Given the description of an element on the screen output the (x, y) to click on. 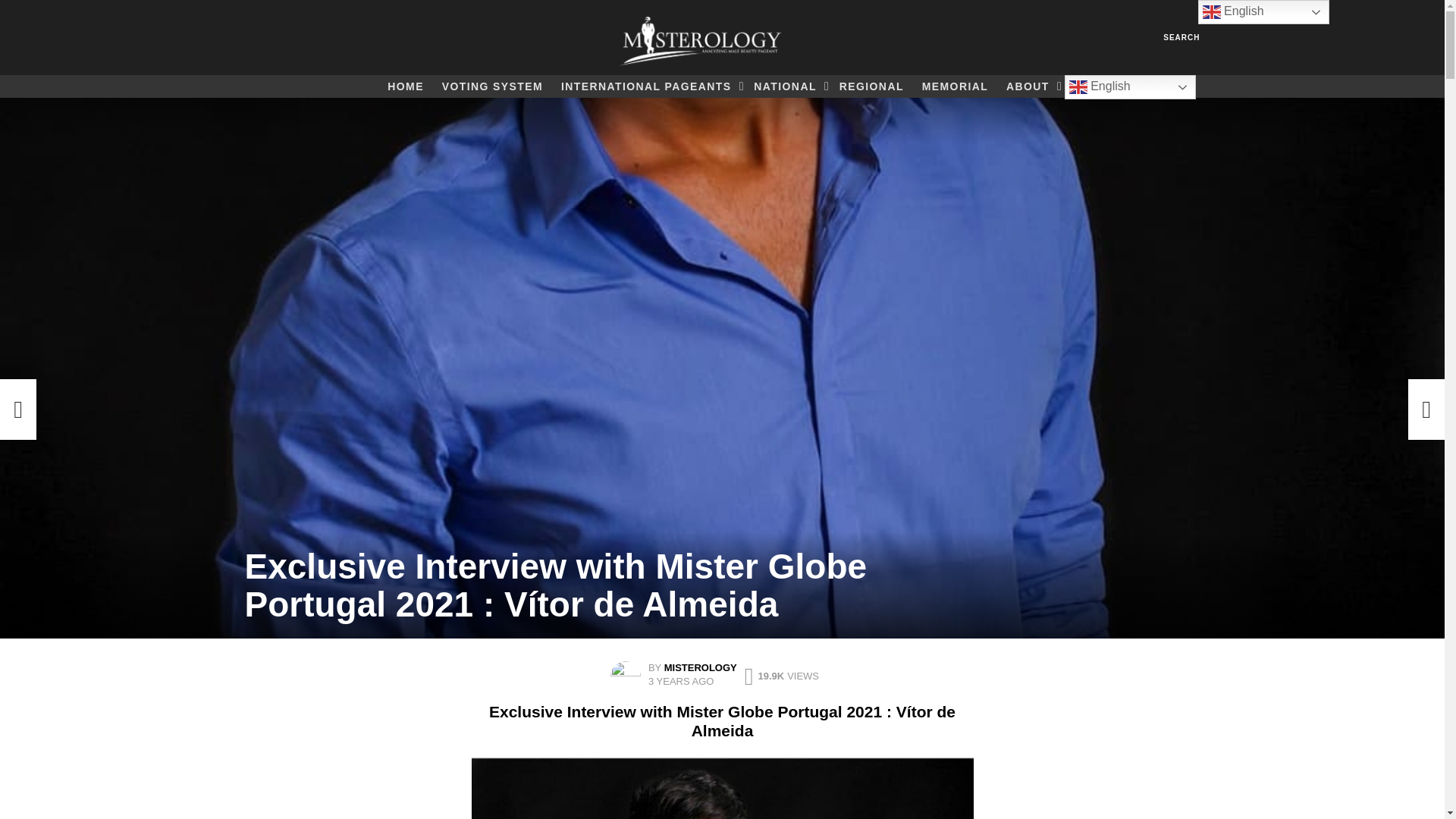
NATIONAL (786, 86)
REGIONAL (871, 86)
HOME (405, 86)
VOTING SYSTEM (491, 86)
June 3, 2021, 2:33 am (680, 681)
INTERNATIONAL PAGEANTS (647, 86)
SEARCH (1181, 37)
English (1129, 87)
Posts by misterology (699, 667)
ABOUT (1029, 86)
MEMORIAL (954, 86)
